Given the description of an element on the screen output the (x, y) to click on. 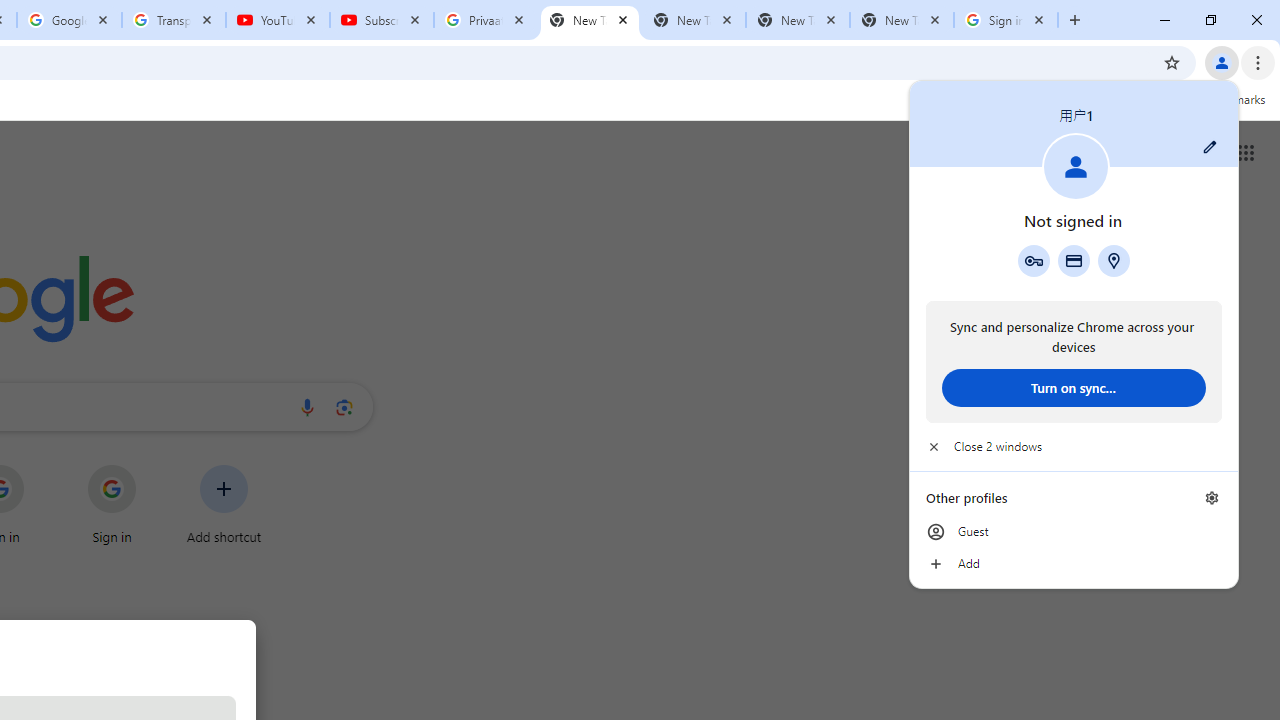
New Tab (589, 20)
Manage profiles (1211, 498)
Sign in - Google Accounts (1005, 20)
Google Password Manager (1033, 260)
Payment methods (1074, 260)
